Given the description of an element on the screen output the (x, y) to click on. 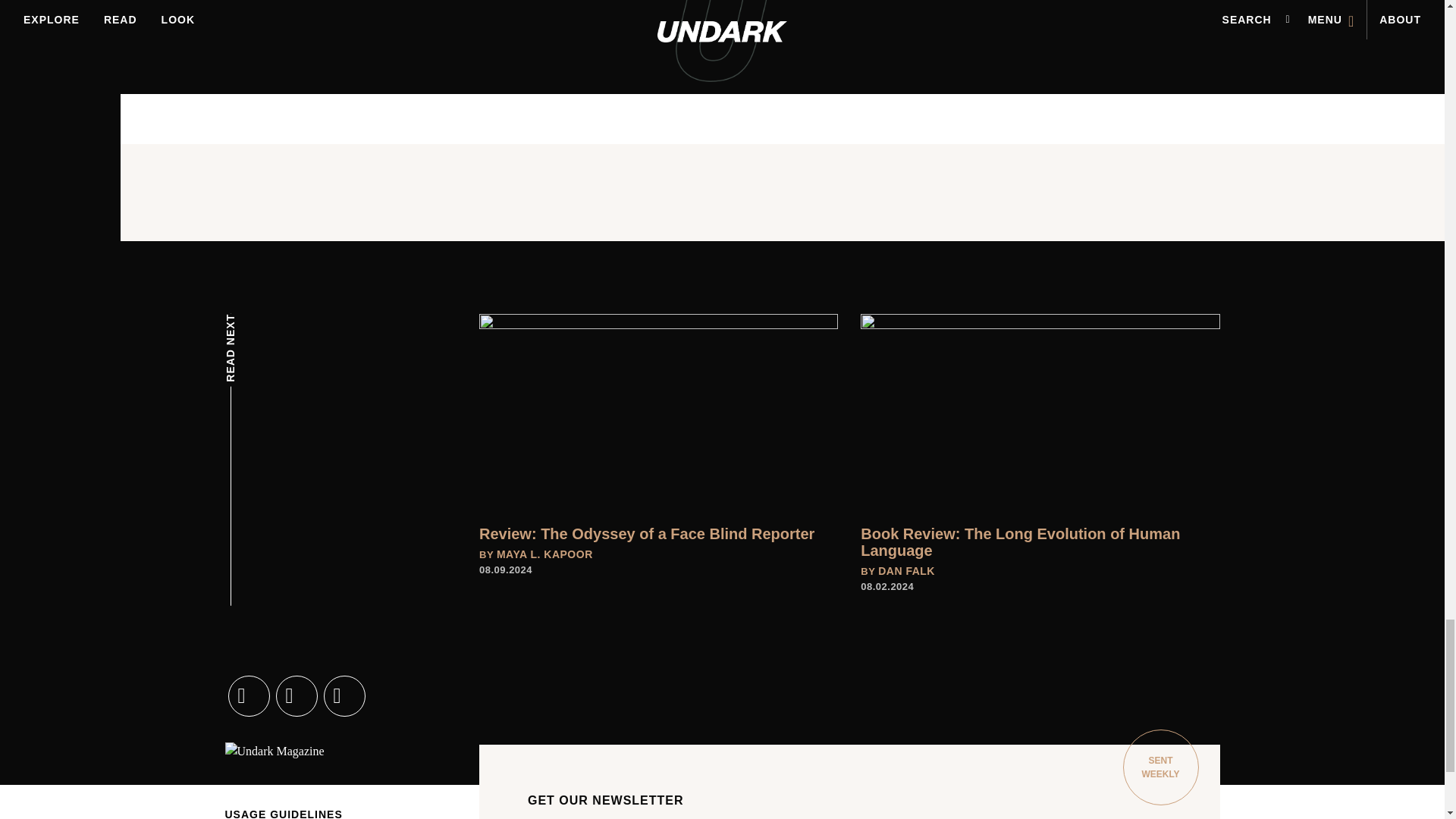
Click to share on Twitter (773, 73)
Click to share on Facebook (734, 73)
Click to share on Pocket (891, 73)
Click to share on Reddit (812, 73)
Click to share on FlipBoard (852, 73)
